Given the description of an element on the screen output the (x, y) to click on. 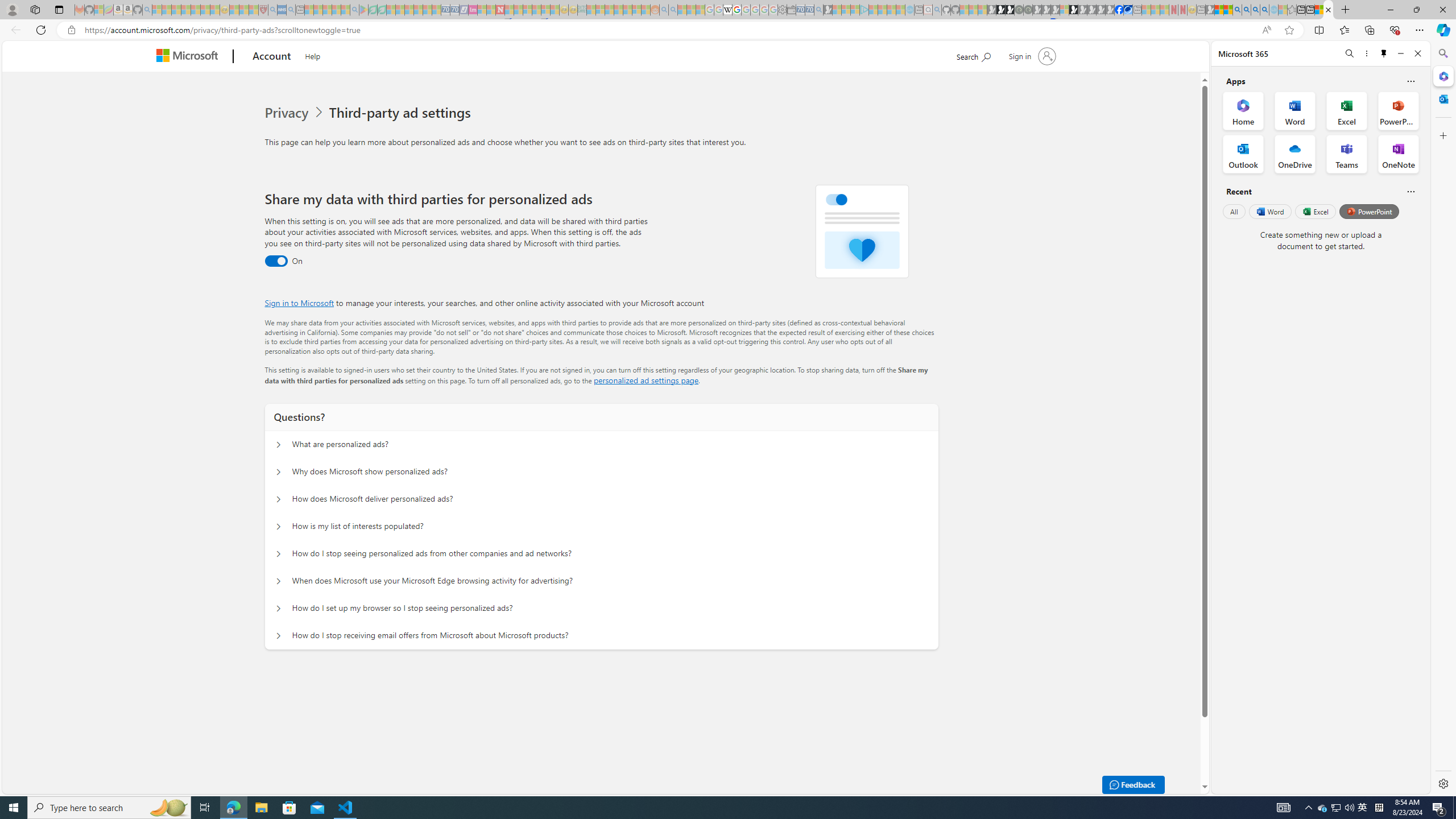
Search Microsoft.com (972, 54)
Sign in to Microsoft (299, 302)
Google Chrome Internet Browser Download - Search Images (1264, 9)
